Given the description of an element on the screen output the (x, y) to click on. 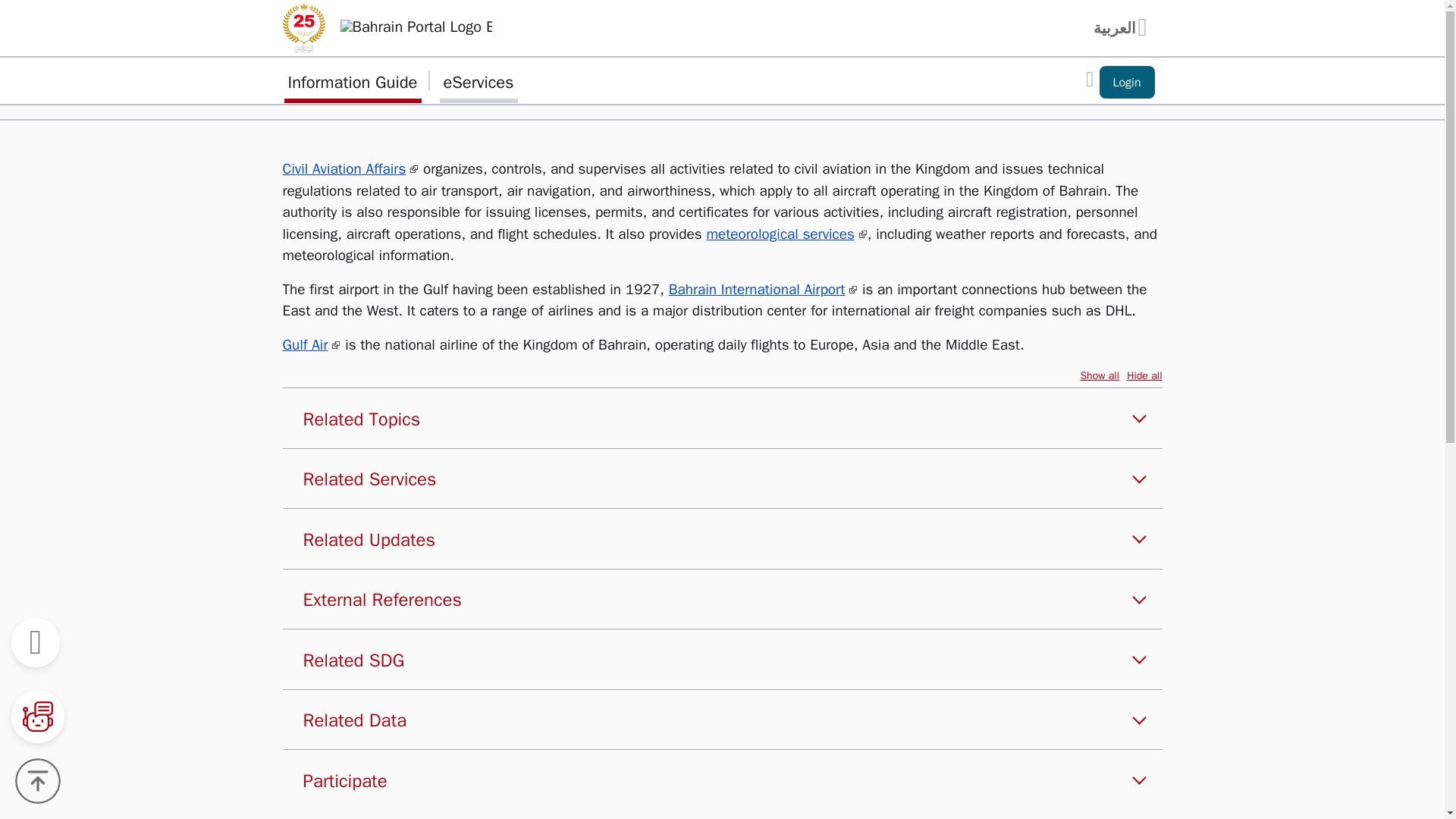
Arabic (1123, 27)
Checkout our newly added features (1126, 82)
Login (1126, 82)
Information Guide (352, 80)
